Given the description of an element on the screen output the (x, y) to click on. 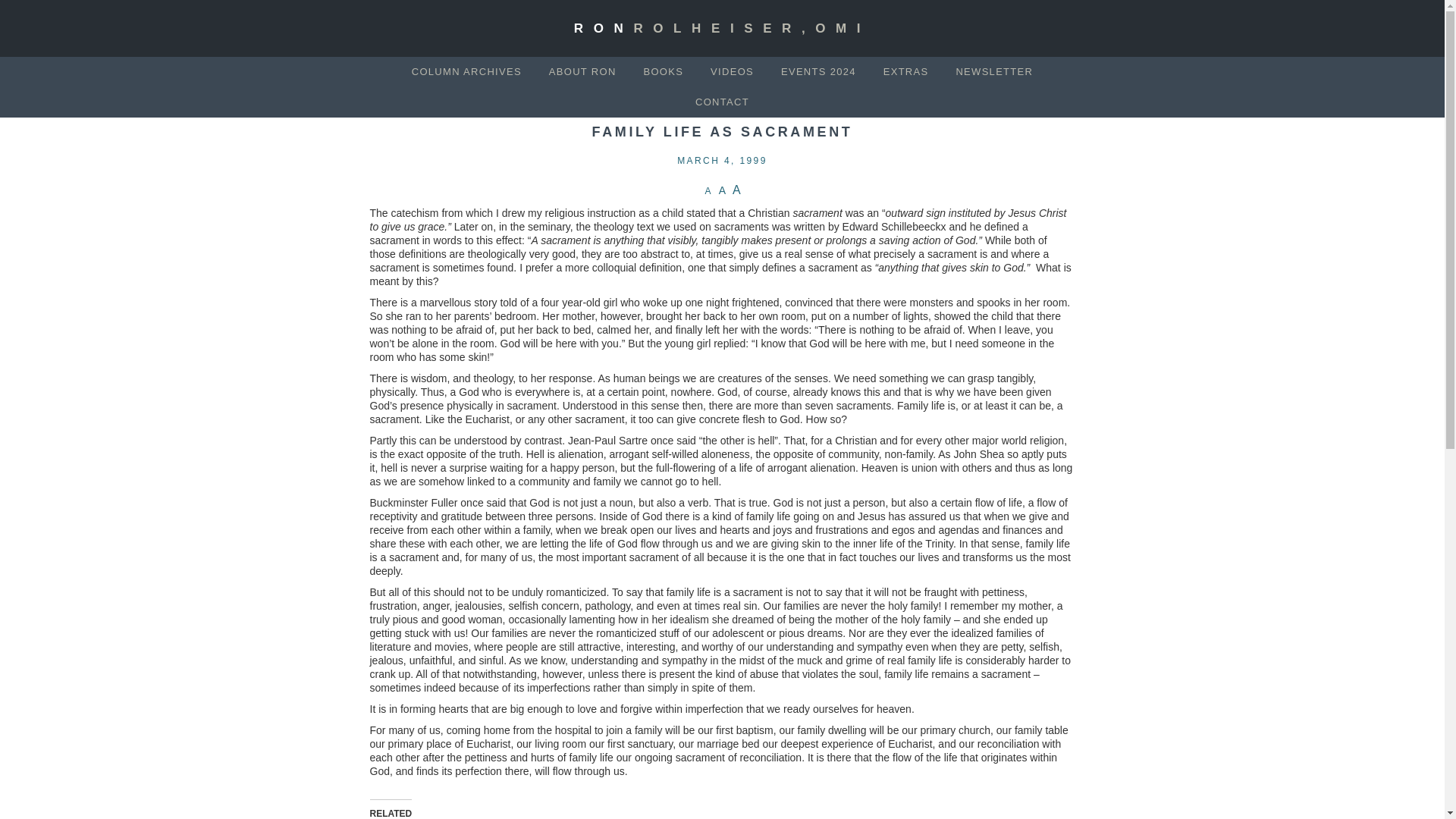
NEWSLETTER (993, 71)
EVENTS 2024 (818, 71)
ABOUT RON (581, 71)
VIDEOS (732, 71)
EXTRAS (905, 71)
COLUMN ARCHIVES (466, 71)
CONTACT (722, 101)
RONROLHEISER,OMI (721, 28)
BOOKS (662, 71)
